Given the description of an element on the screen output the (x, y) to click on. 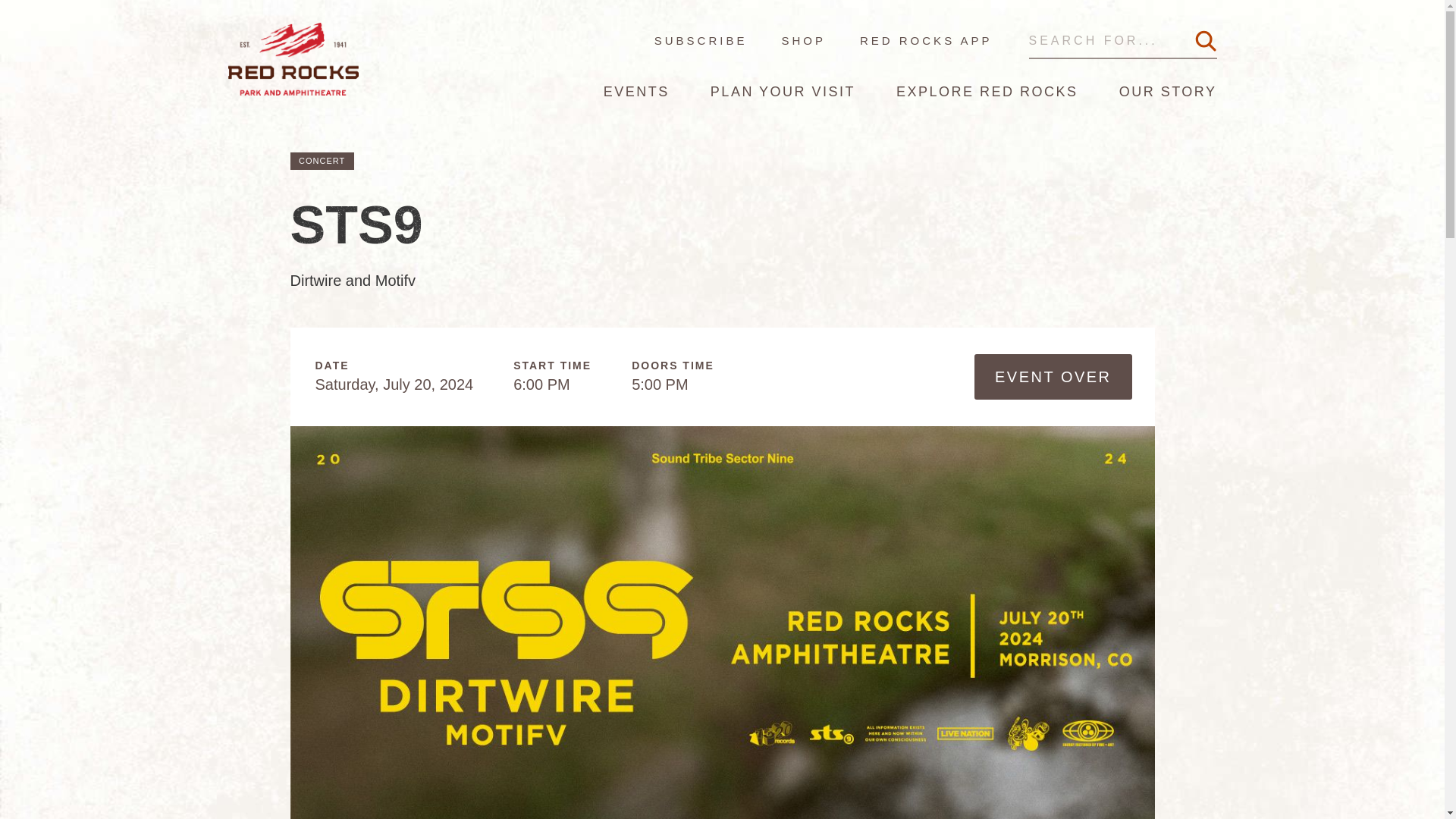
SHOP (785, 40)
EVENTS (636, 91)
PLAN YOUR VISIT (783, 91)
EXPLORE RED ROCKS (987, 91)
RED ROCKS APP (908, 40)
OUR STORY (1168, 91)
SUBSCRIBE (700, 40)
